Given the description of an element on the screen output the (x, y) to click on. 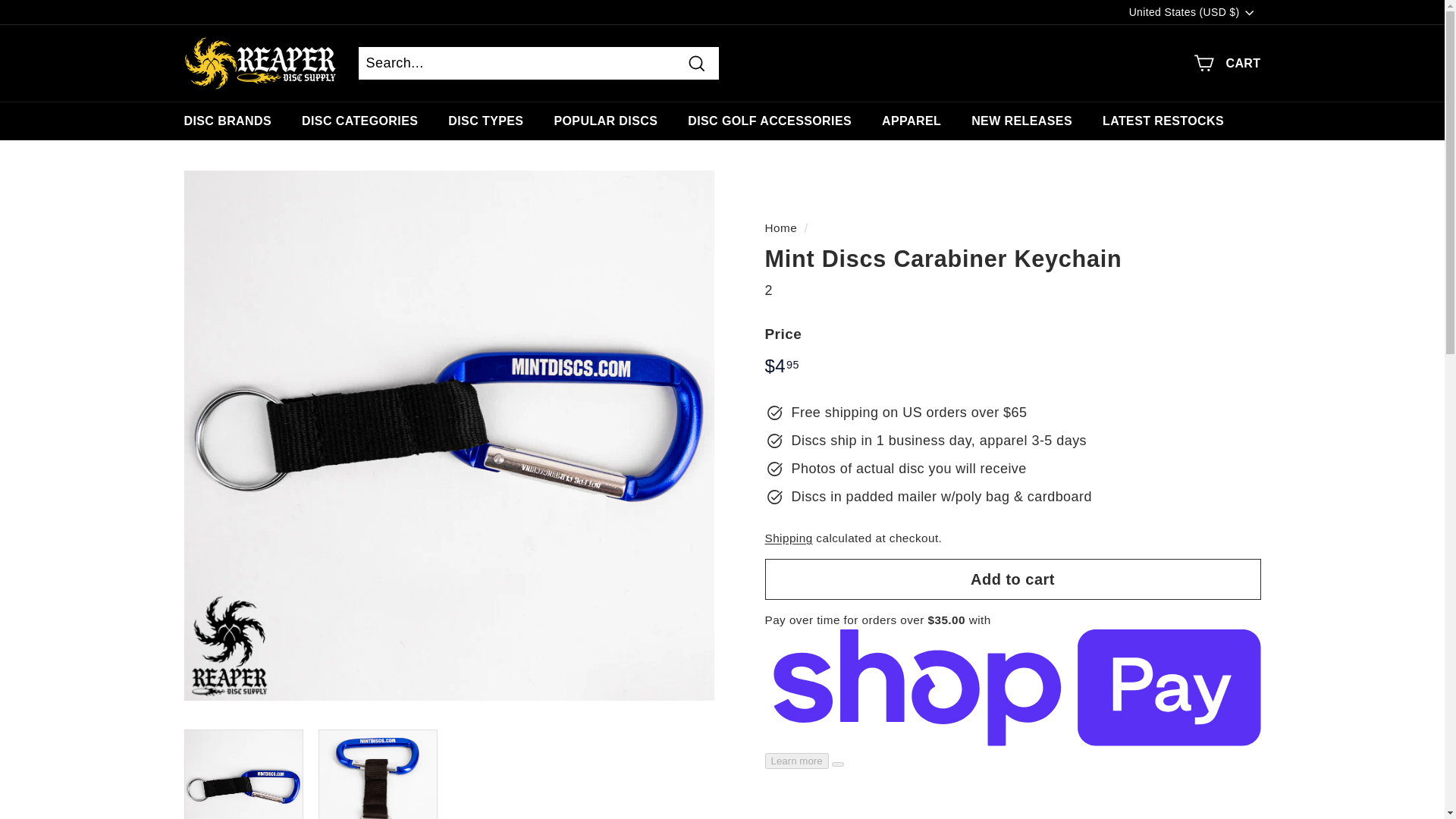
DISC BRANDS (227, 120)
Back to the frontpage (780, 227)
